Given the description of an element on the screen output the (x, y) to click on. 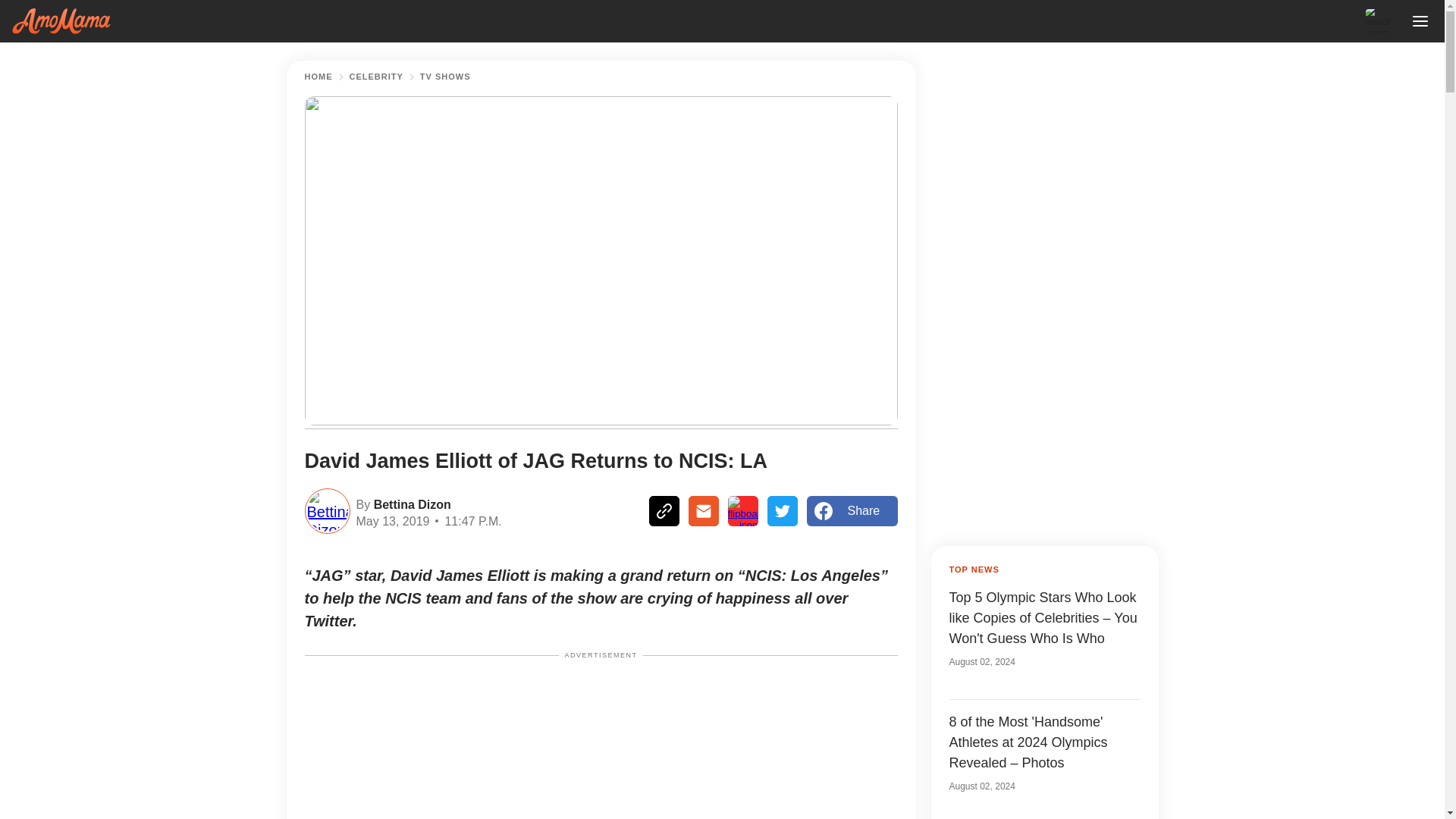
HOME (318, 76)
TV SHOWS (445, 76)
Bettina Dizon (410, 503)
CELEBRITY (376, 76)
